Given the description of an element on the screen output the (x, y) to click on. 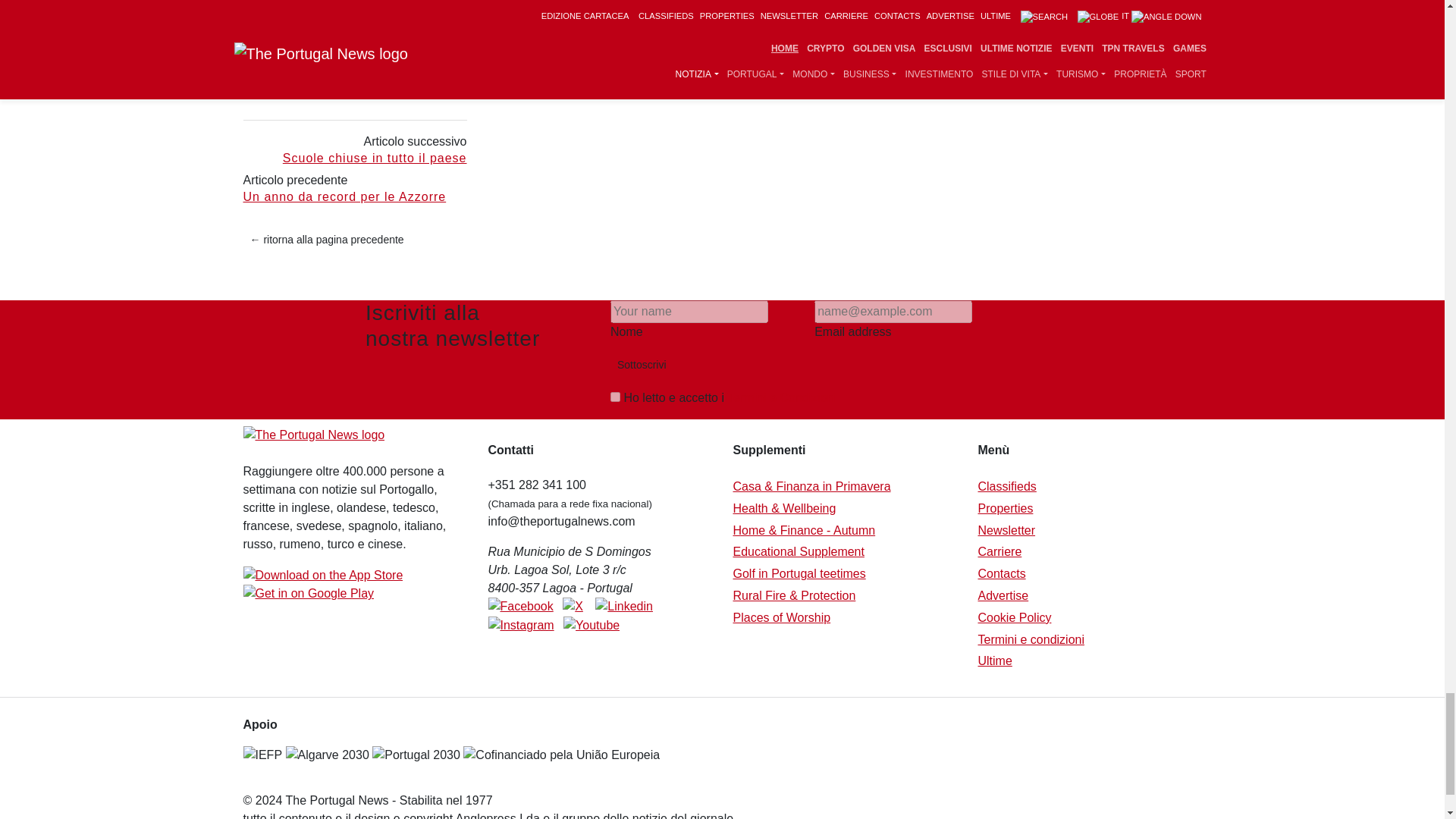
on (615, 397)
